Given the description of an element on the screen output the (x, y) to click on. 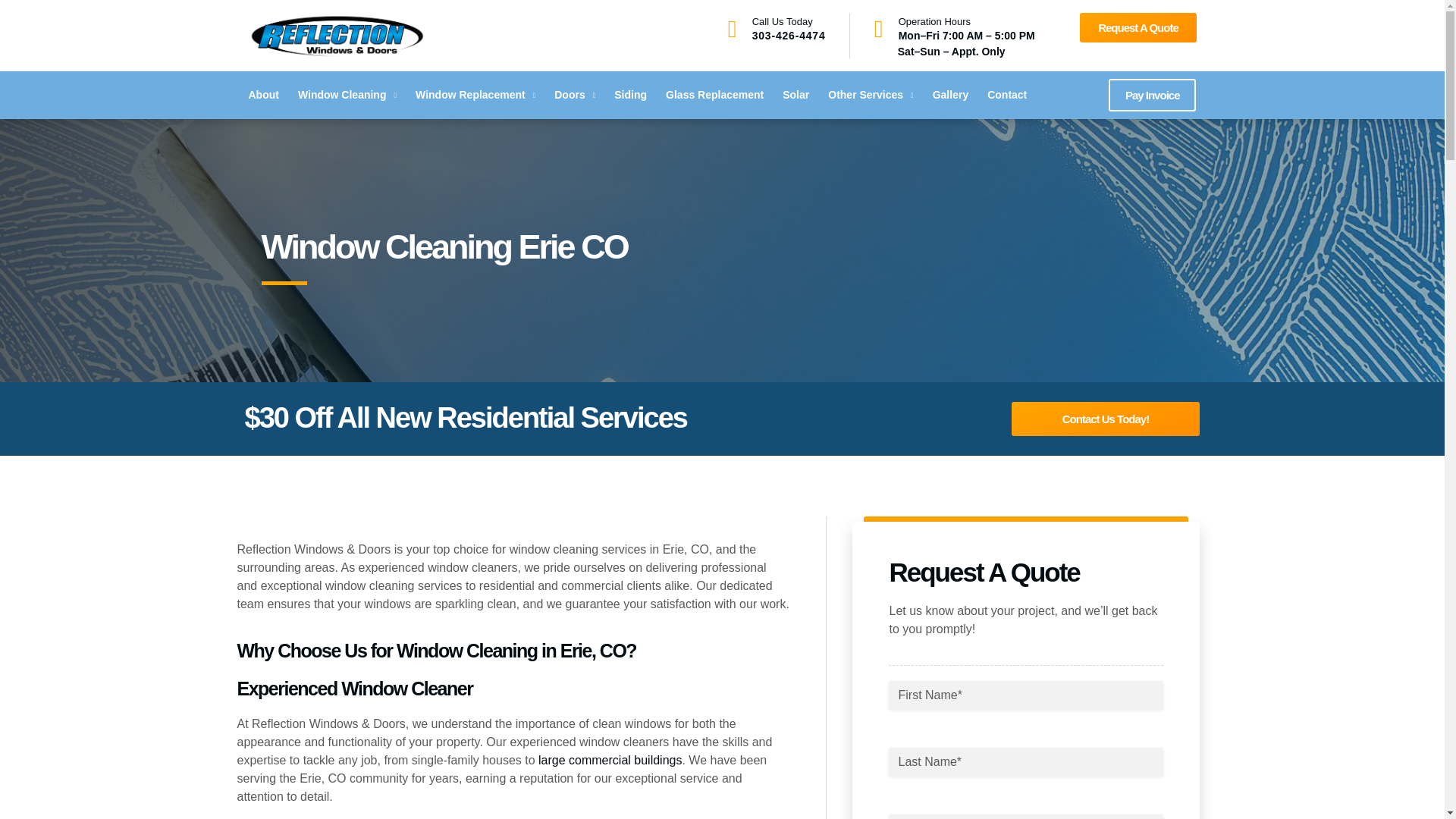
Gallery (950, 95)
Glass Replacement (713, 95)
Window Replacement (474, 95)
Request A Quote (1138, 27)
Window Cleaning (347, 95)
Doors (574, 95)
Contact (1006, 95)
Other Services (870, 95)
